Given the description of an element on the screen output the (x, y) to click on. 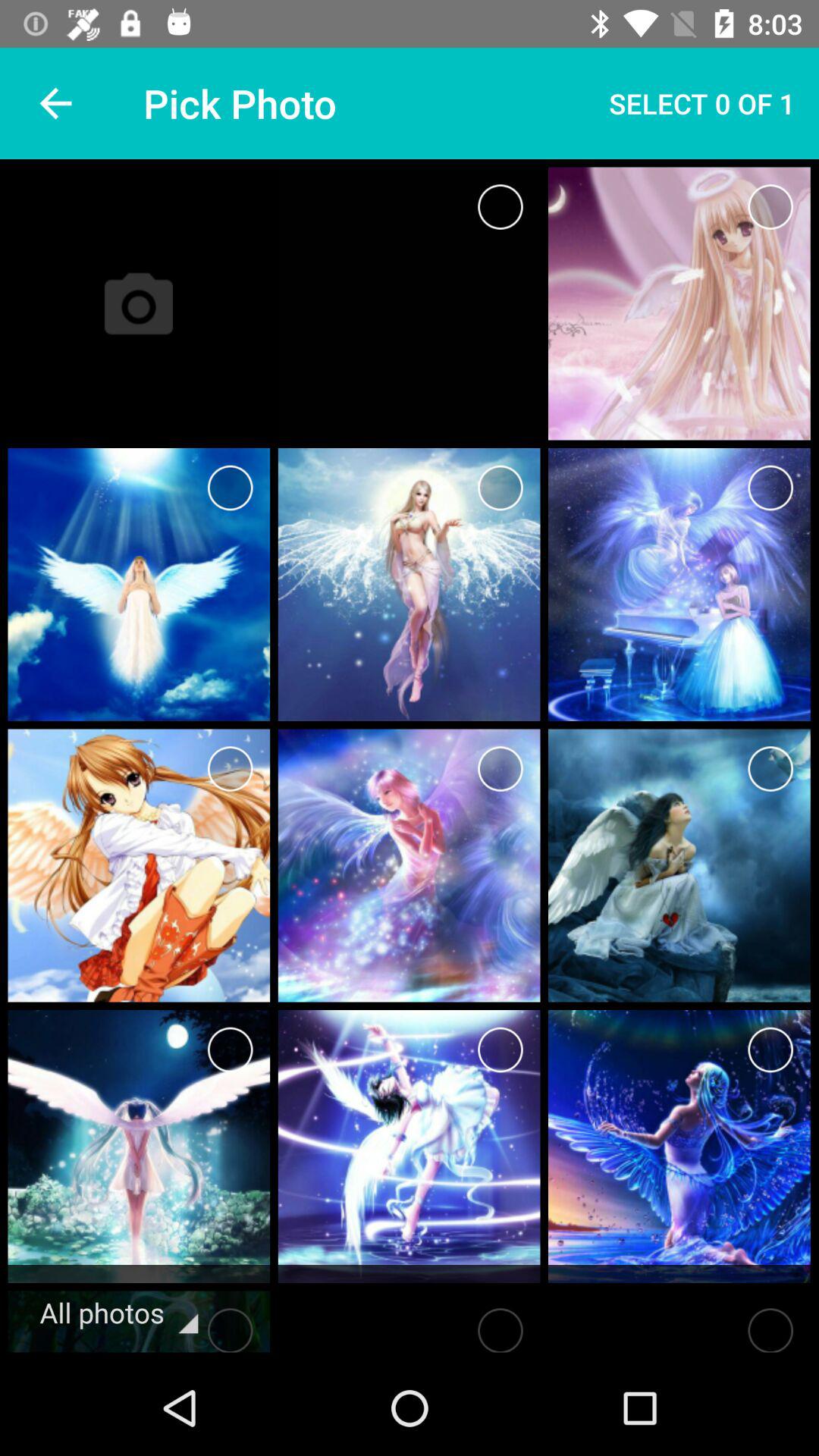
choose this item (500, 1325)
